Given the description of an element on the screen output the (x, y) to click on. 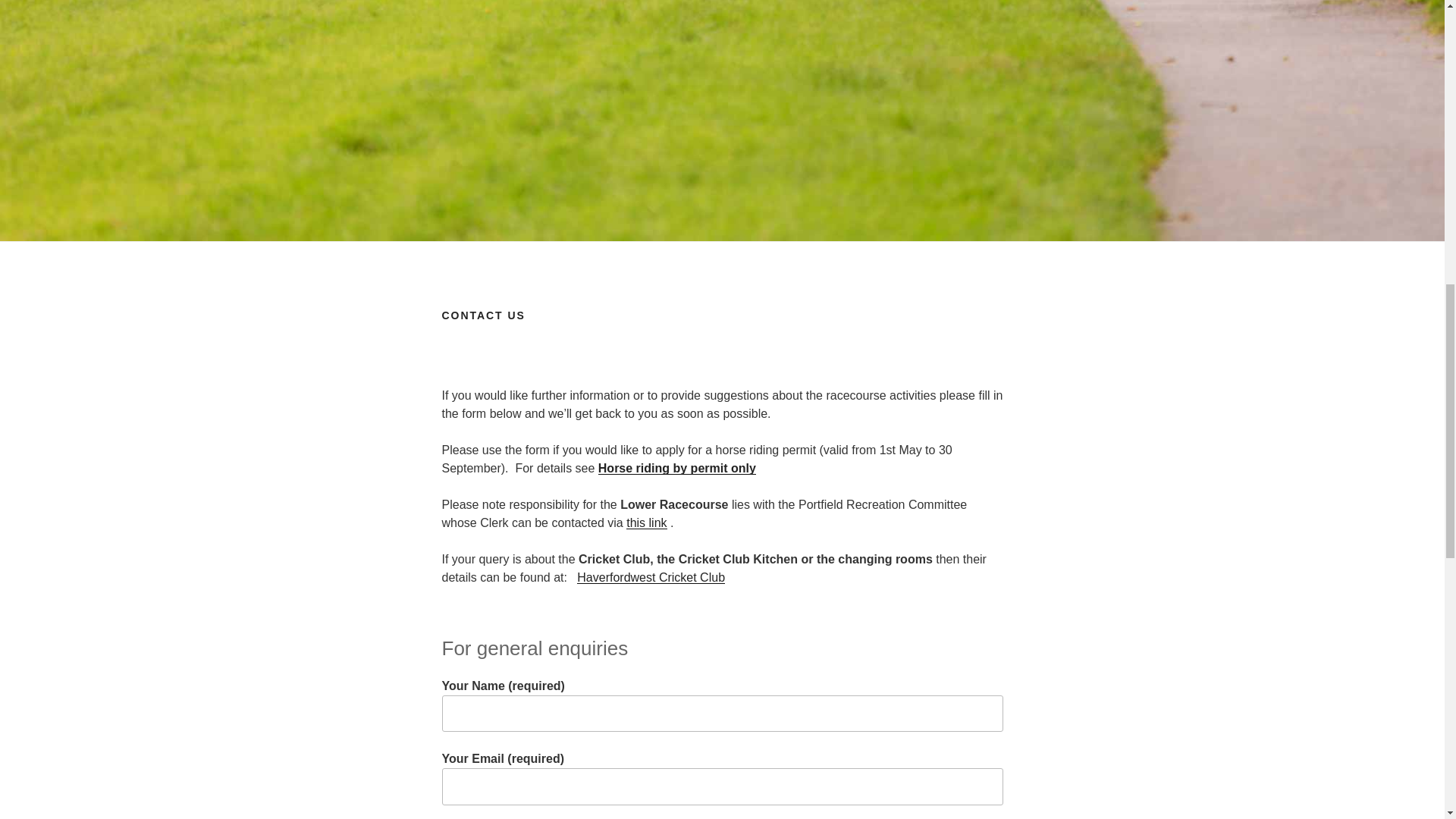
Horse riding by permit only (676, 468)
this link (646, 522)
Haverfordwest Cricket Club (650, 576)
